Given the description of an element on the screen output the (x, y) to click on. 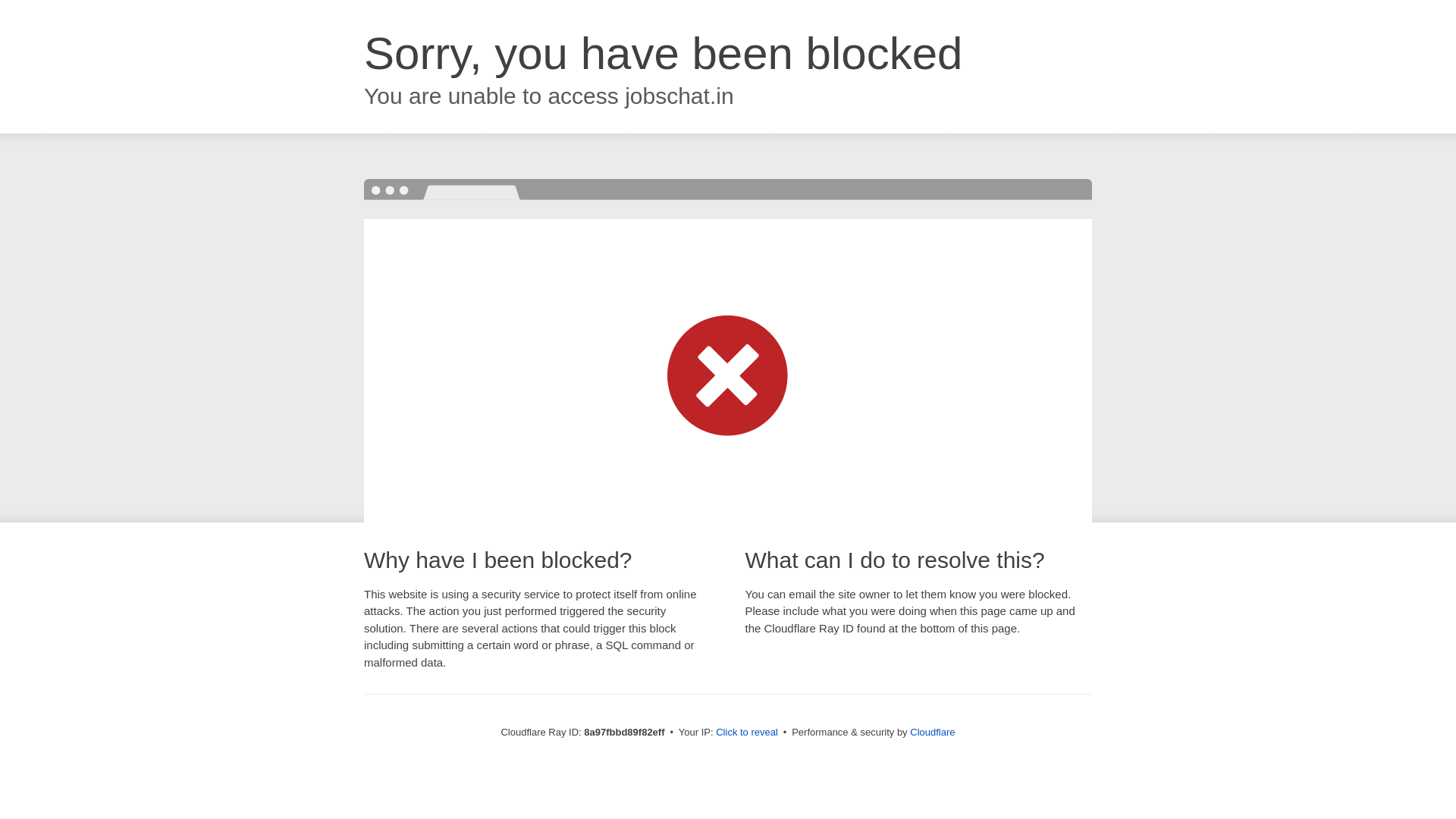
Cloudflare (932, 731)
Click to reveal (746, 732)
